Given the description of an element on the screen output the (x, y) to click on. 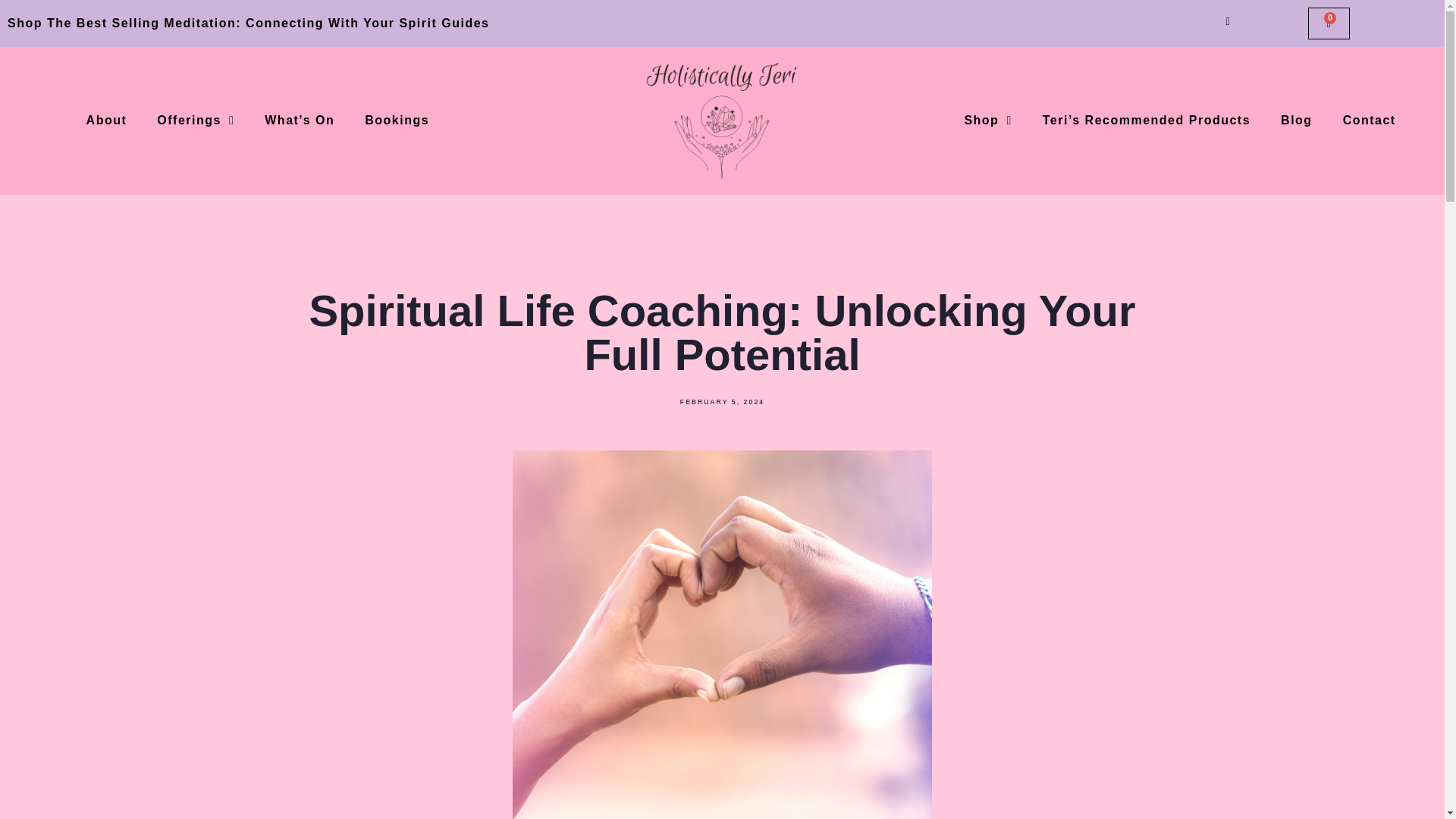
Contact (1368, 120)
Blog (1296, 120)
About (106, 120)
Shop (987, 120)
Offerings (194, 120)
Bookings (396, 120)
0 (1328, 23)
